Given the description of an element on the screen output the (x, y) to click on. 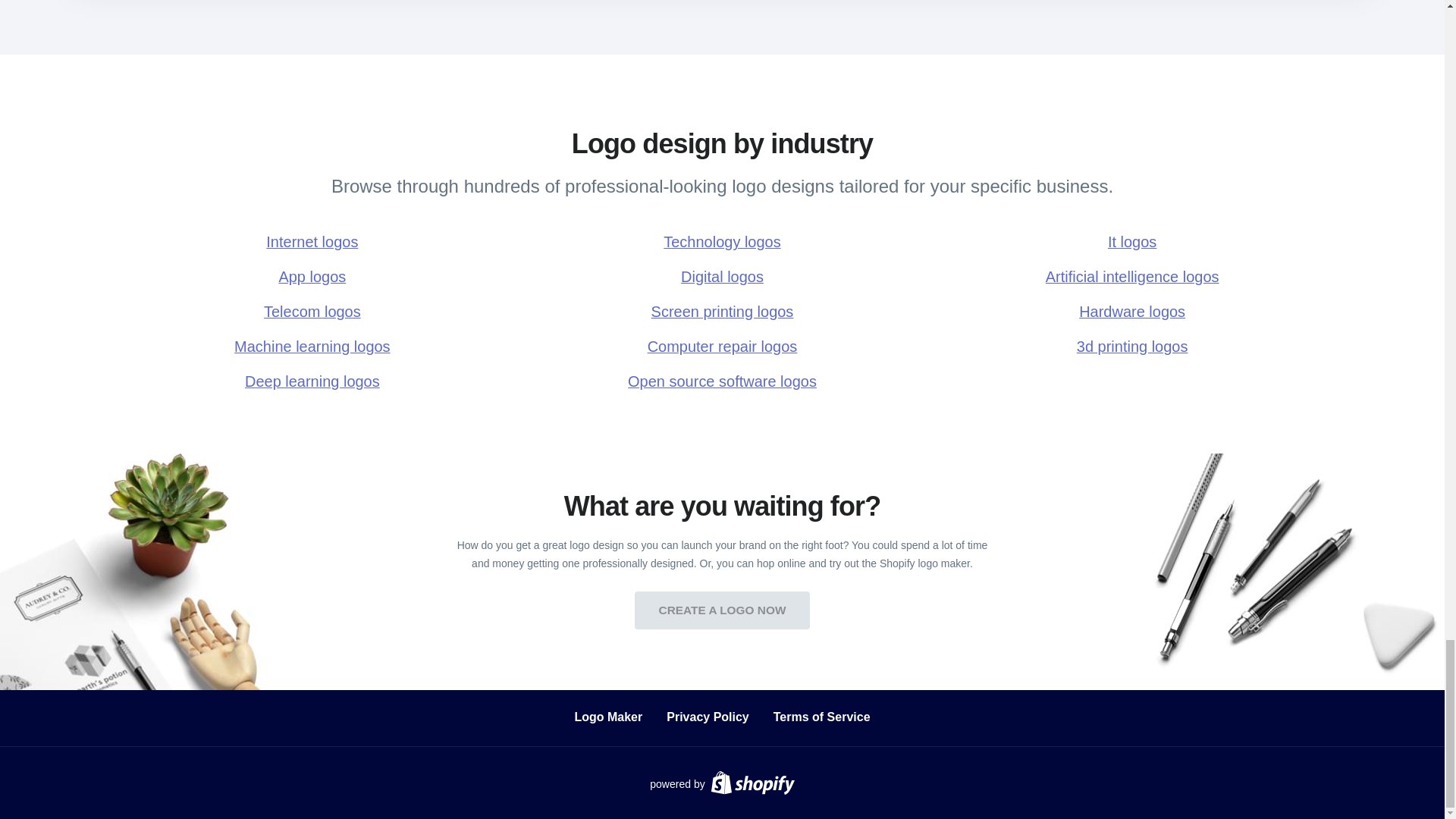
Deep learning logos (312, 381)
3d printing logos (1132, 345)
Machine learning logos (312, 345)
Open source software logos (721, 381)
Privacy Policy (707, 718)
Computer repair logos (721, 345)
Hardware logos (1132, 311)
Technology logos (721, 241)
Privacy Policy (707, 718)
It logos (1132, 241)
Screen printing logos (721, 311)
App logos (312, 276)
CREATE A LOGO NOW (722, 610)
Internet logos (312, 241)
Logo Maker (607, 718)
